Given the description of an element on the screen output the (x, y) to click on. 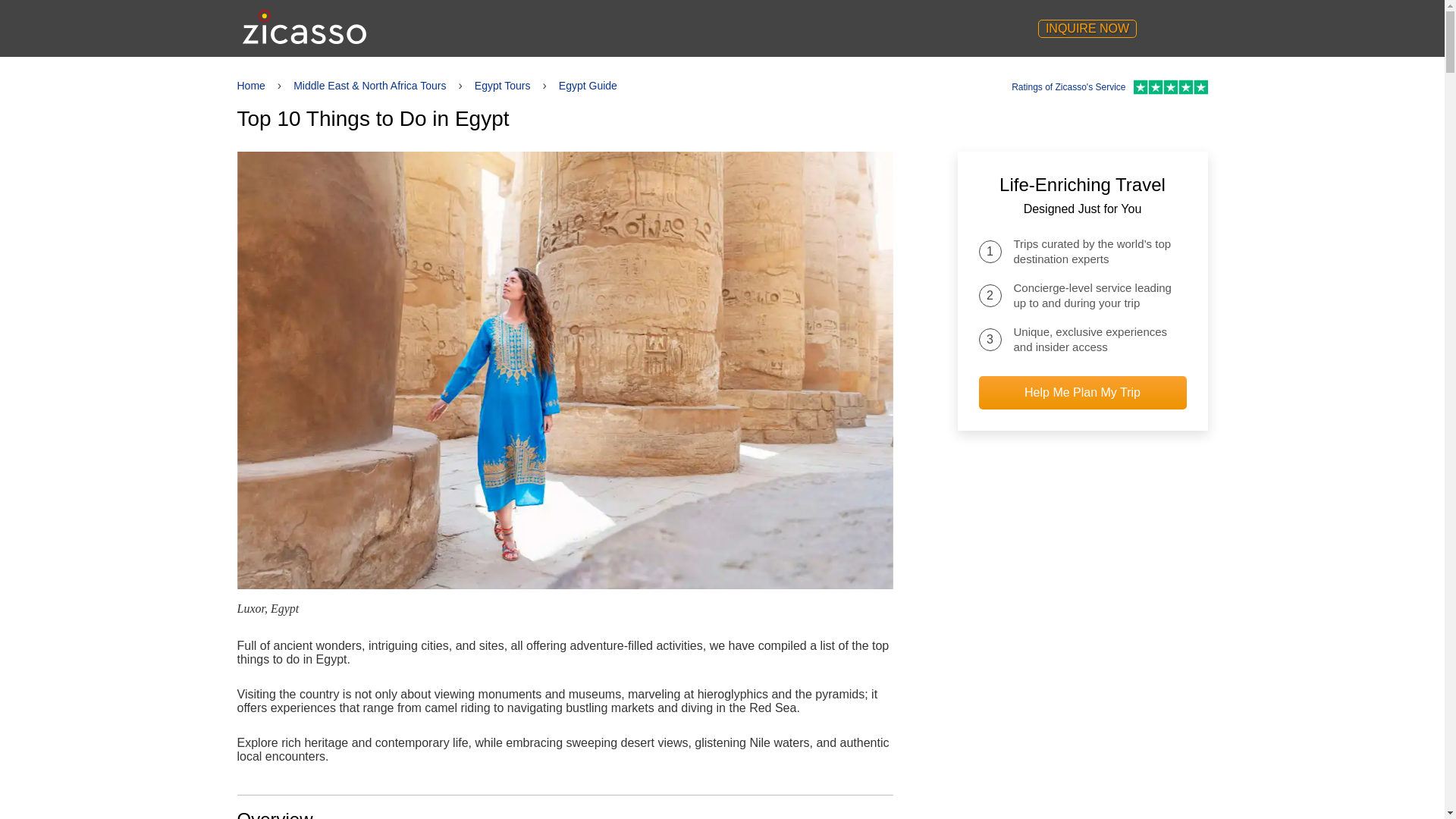
Zicasso Logo (304, 26)
INQUIRE NOW (1087, 28)
